Given the description of an element on the screen output the (x, y) to click on. 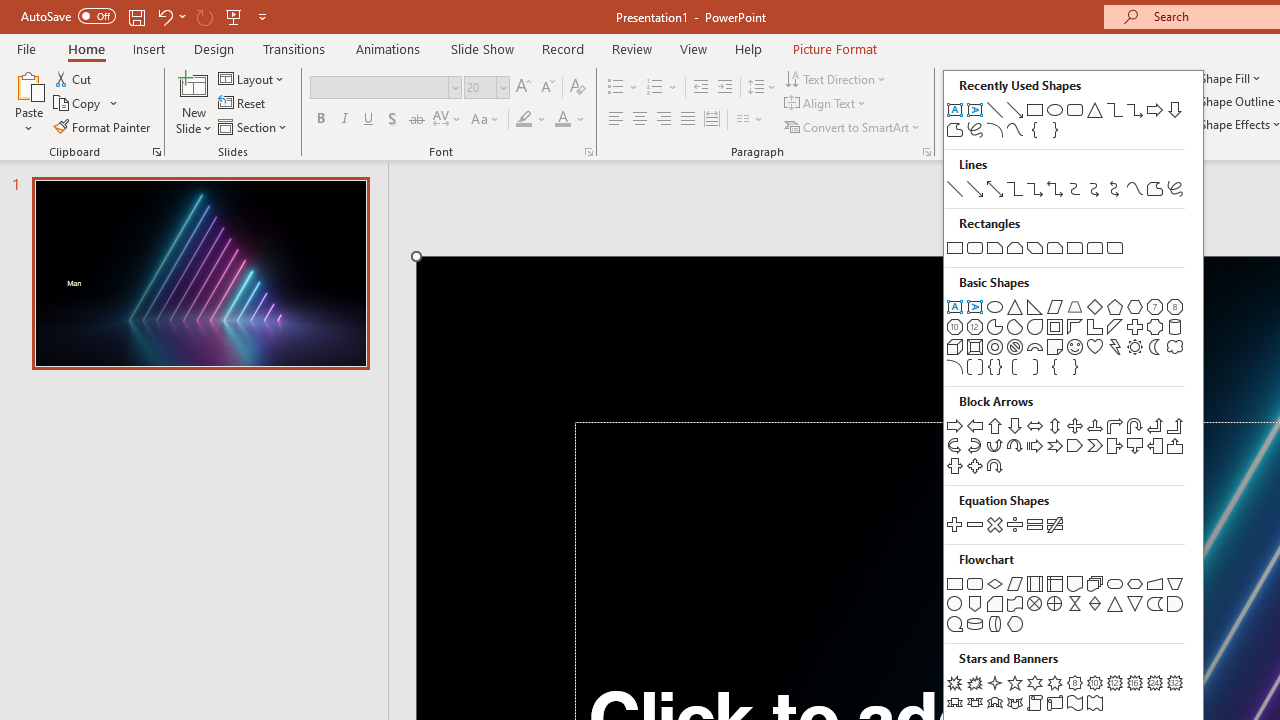
Layout (252, 78)
AutoSave (68, 16)
Strikethrough (416, 119)
Line Spacing (762, 87)
Center (639, 119)
Customize Quick Access Toolbar (262, 15)
Change Case (486, 119)
Copy (78, 103)
Copy (85, 103)
Numbering (661, 87)
Paste (28, 102)
Font... (588, 151)
Undo (164, 15)
View (693, 48)
Help (748, 48)
